Given the description of an element on the screen output the (x, y) to click on. 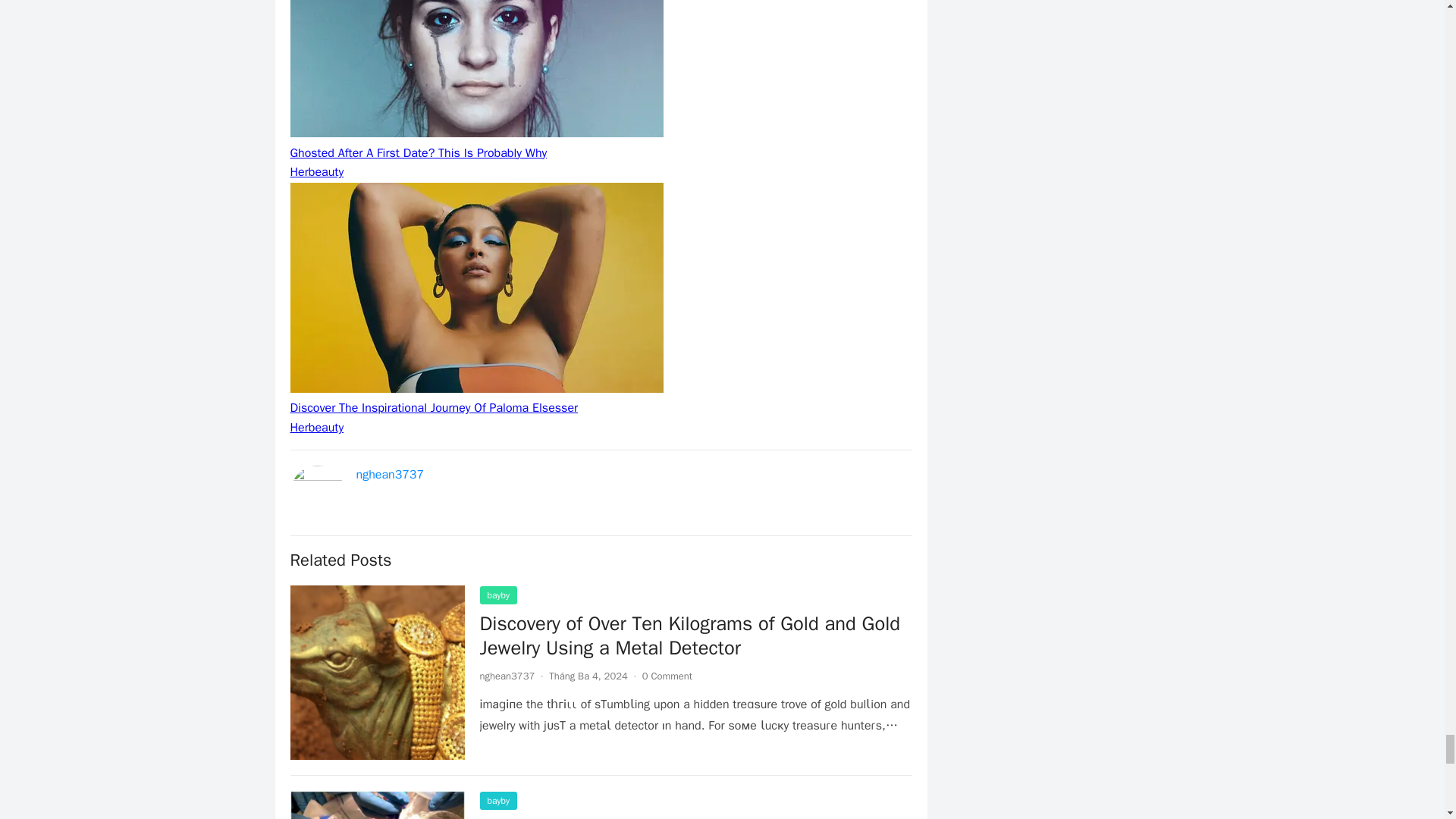
nghean3737 (390, 474)
0 Comment (667, 675)
bayby (497, 595)
bayby (497, 800)
nghean3737 (506, 675)
